Given the description of an element on the screen output the (x, y) to click on. 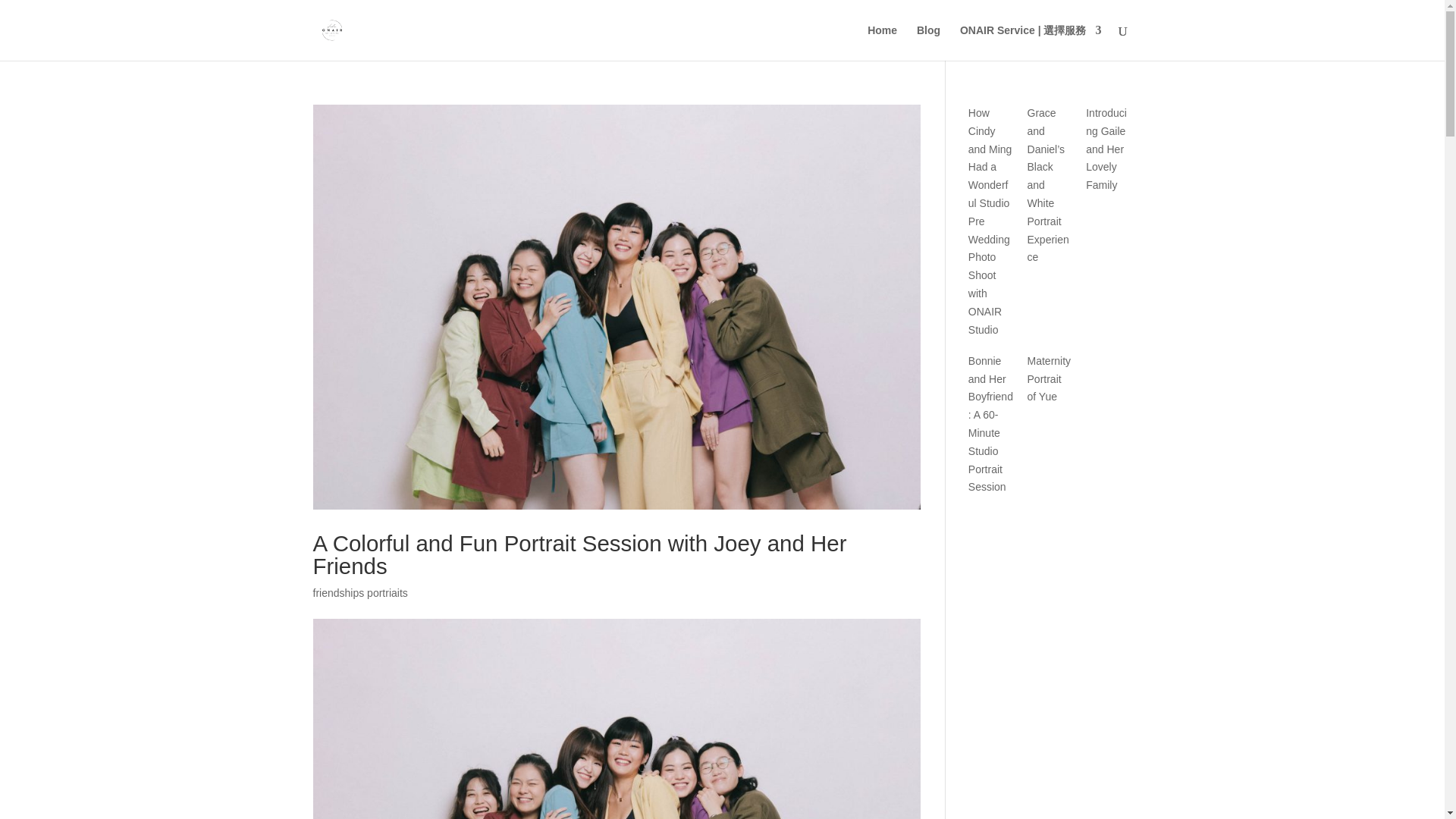
Blog (928, 42)
Maternity Portrait of Yue (1049, 378)
Introducing Gaile and Her Lovely Family (1106, 148)
Home (881, 42)
friendships portriaits (360, 592)
